Given the description of an element on the screen output the (x, y) to click on. 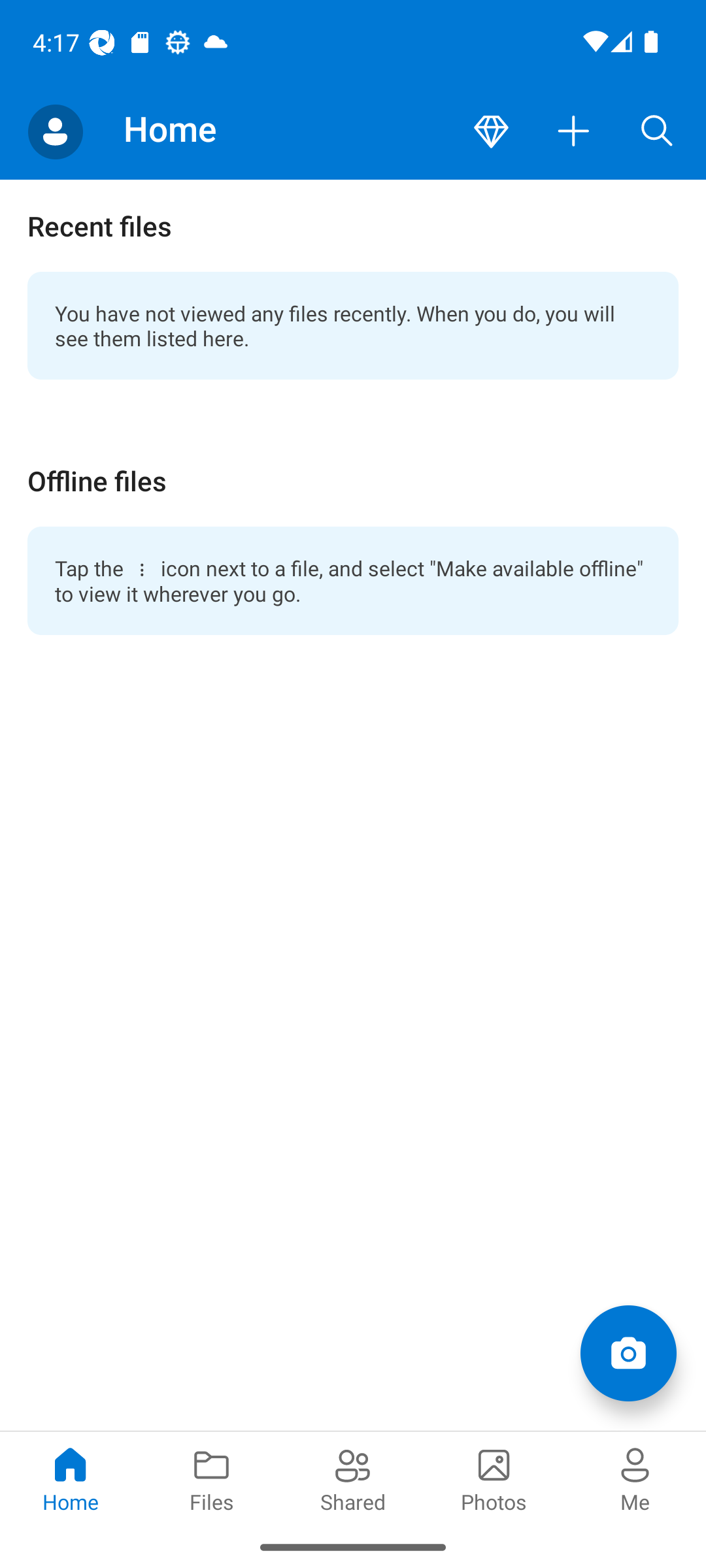
Account switcher (55, 131)
Premium button (491, 131)
More actions button (574, 131)
Search button (656, 131)
Scan (628, 1352)
Files pivot Files (211, 1478)
Shared pivot Shared (352, 1478)
Photos pivot Photos (493, 1478)
Me pivot Me (635, 1478)
